Given the description of an element on the screen output the (x, y) to click on. 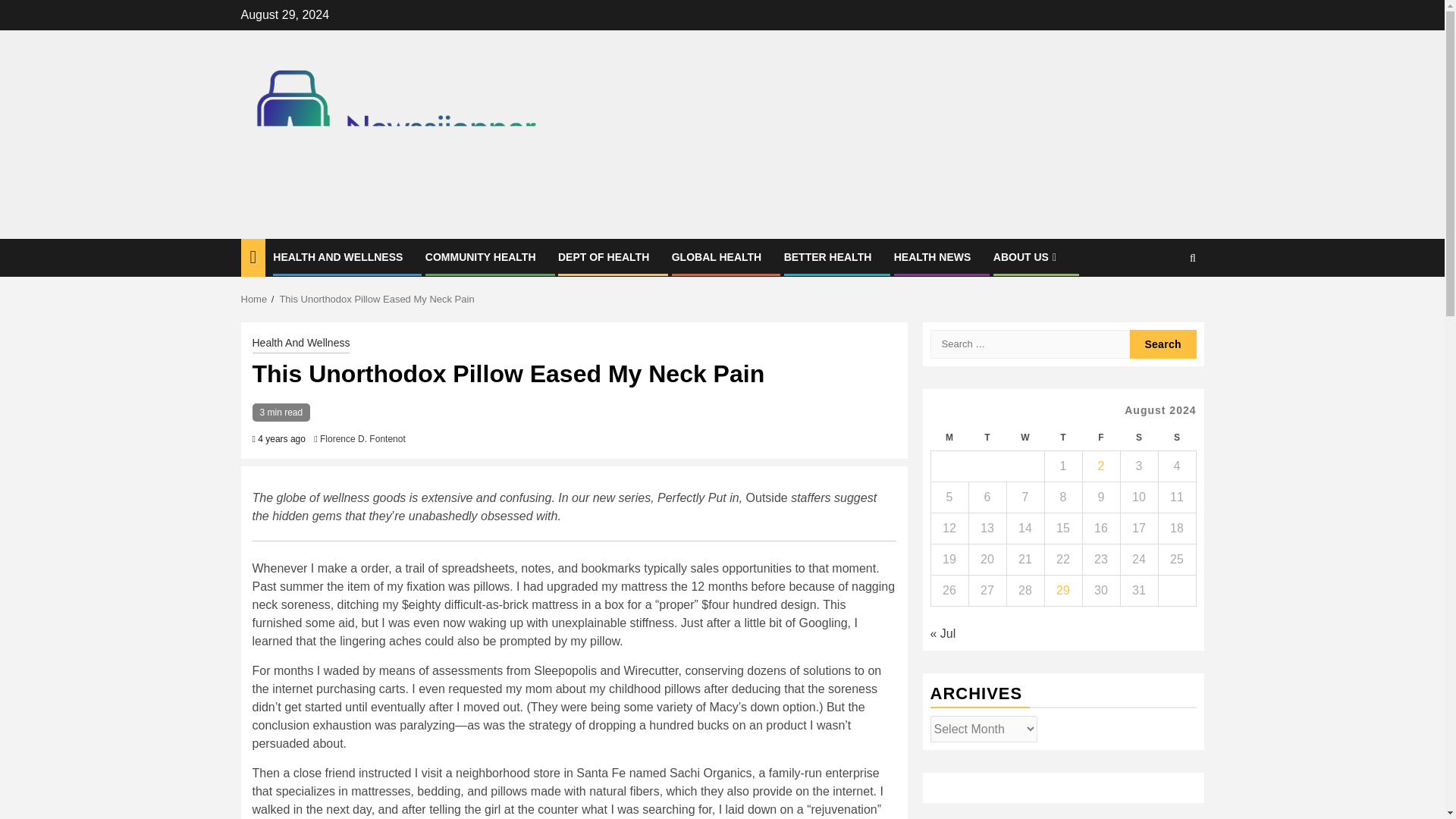
Health And Wellness (300, 343)
This Unorthodox Pillow Eased My Neck Pain (376, 298)
Thursday (1062, 438)
HEALTH NEWS (932, 256)
BETTER HEALTH (828, 256)
ABOUT US (1025, 256)
DEPT OF HEALTH (603, 256)
Friday (1100, 438)
COMMUNITY HEALTH (480, 256)
Home (254, 298)
